Given the description of an element on the screen output the (x, y) to click on. 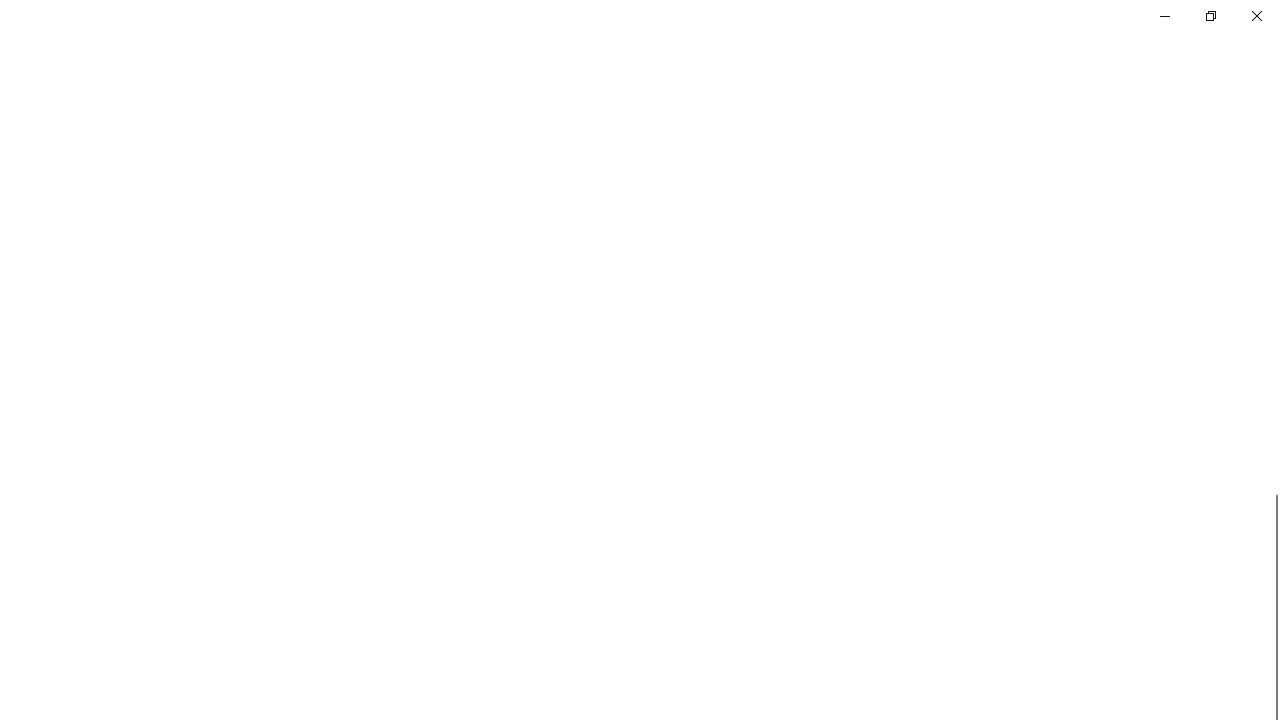
Minimize Settings (1164, 15)
Vertical Small Decrease (1272, 103)
Restore Settings (1210, 15)
Vertical Large Decrease (1272, 303)
Close Settings (1256, 15)
